Given the description of an element on the screen output the (x, y) to click on. 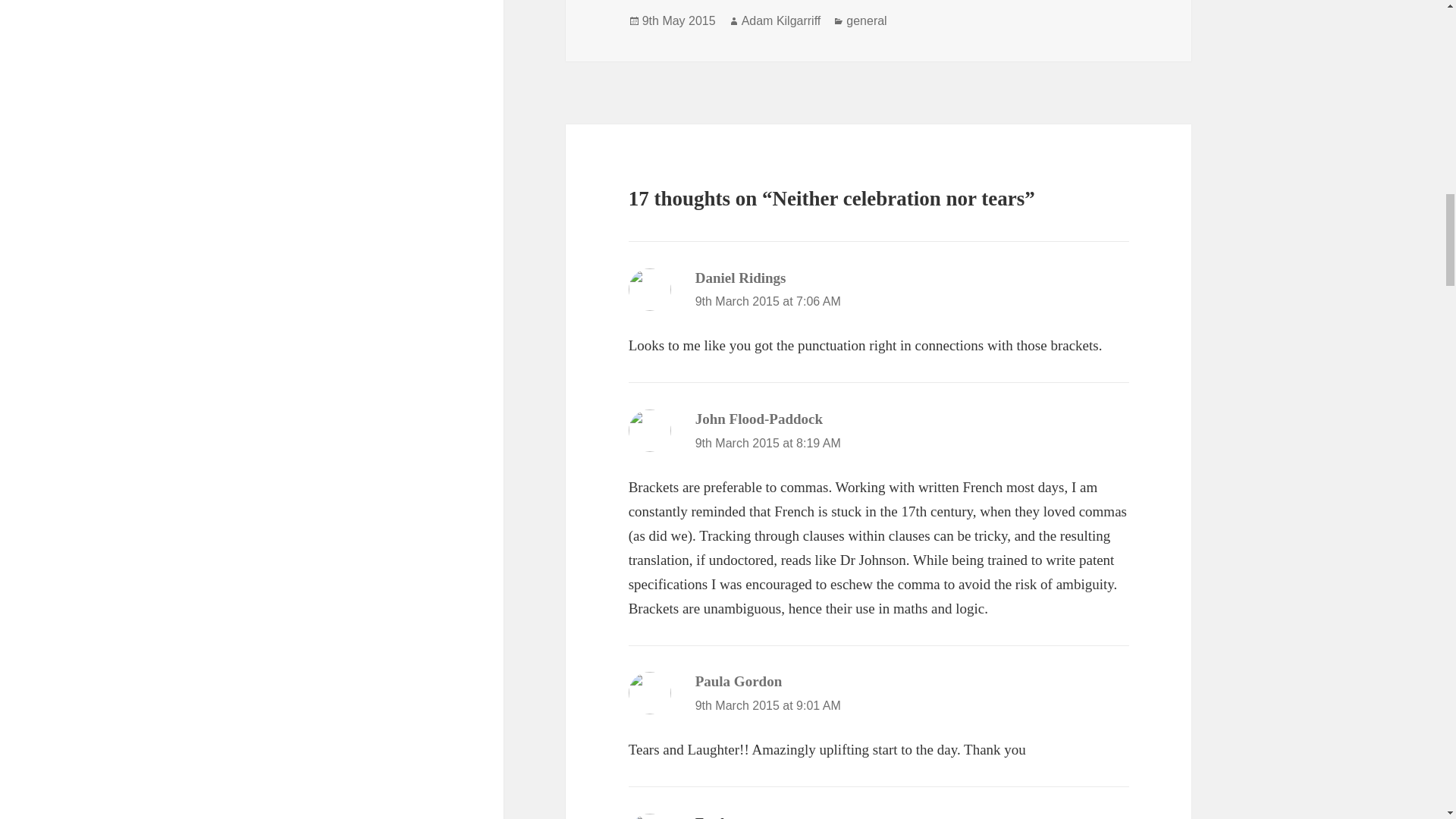
Adam Kilgarriff (781, 20)
9th March 2015 at 7:06 AM (768, 300)
9th March 2015 at 9:01 AM (768, 705)
general (865, 20)
Fred (710, 816)
9th March 2015 at 8:19 AM (768, 442)
9th May 2015 (679, 20)
